Given the description of an element on the screen output the (x, y) to click on. 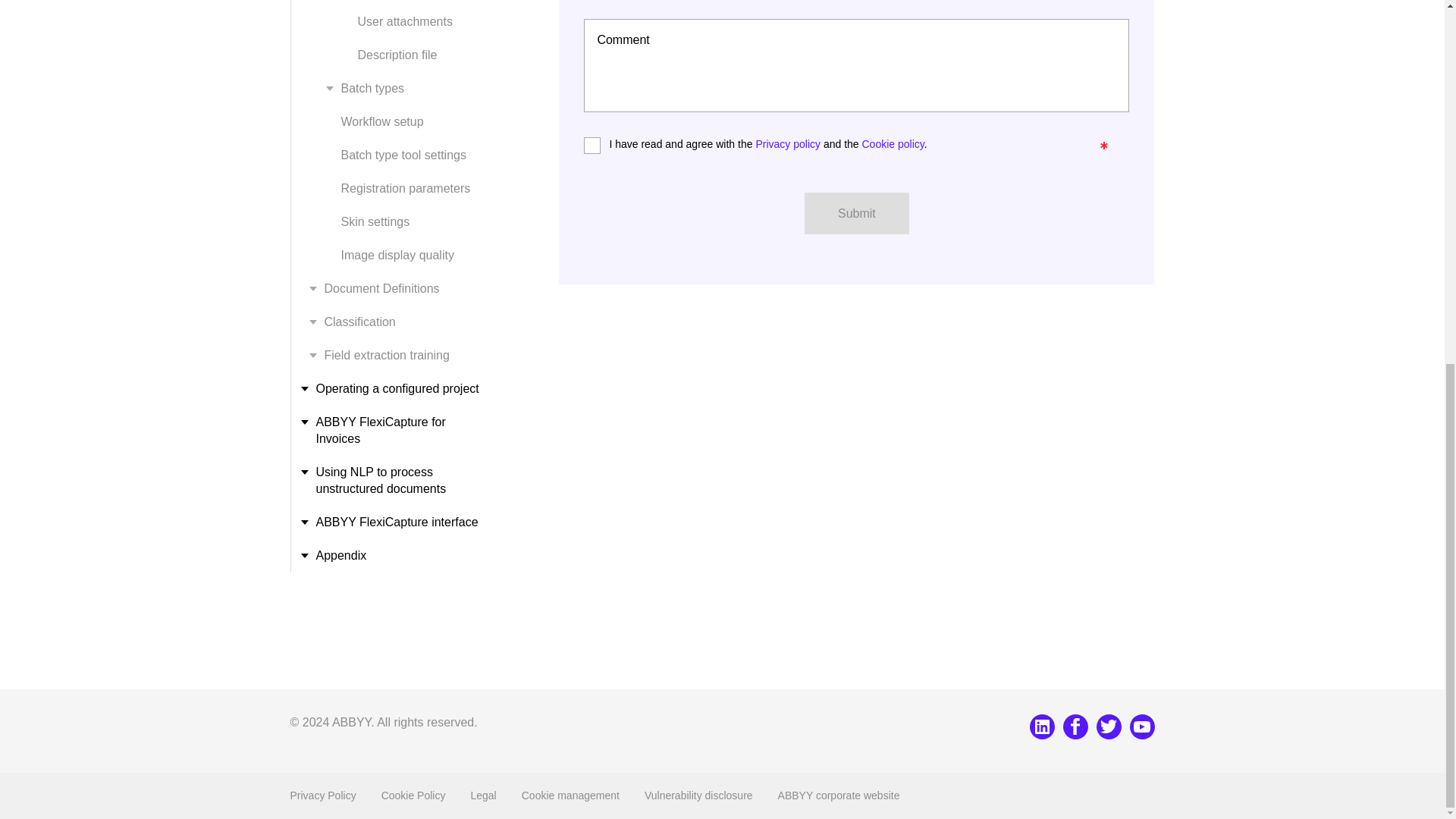
true (588, 142)
Youtube (1141, 726)
LinkedIn (1041, 726)
Twitter (1108, 726)
Privacy (322, 795)
Legal (483, 795)
Facebook (1074, 726)
Cookie management (570, 795)
